Given the description of an element on the screen output the (x, y) to click on. 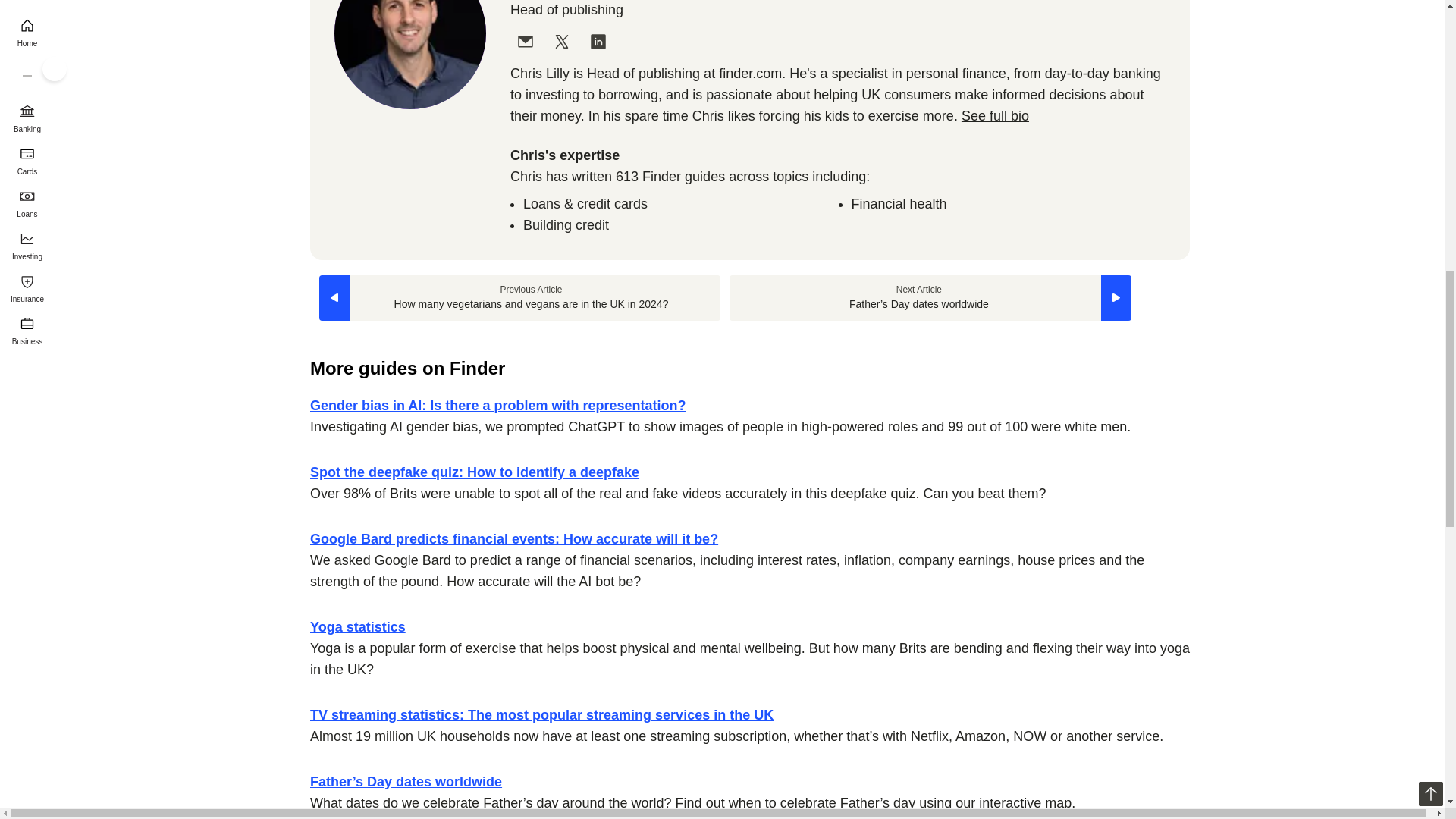
How many vegetarians and vegans are in the UK in 2024? (519, 298)
